Given the description of an element on the screen output the (x, y) to click on. 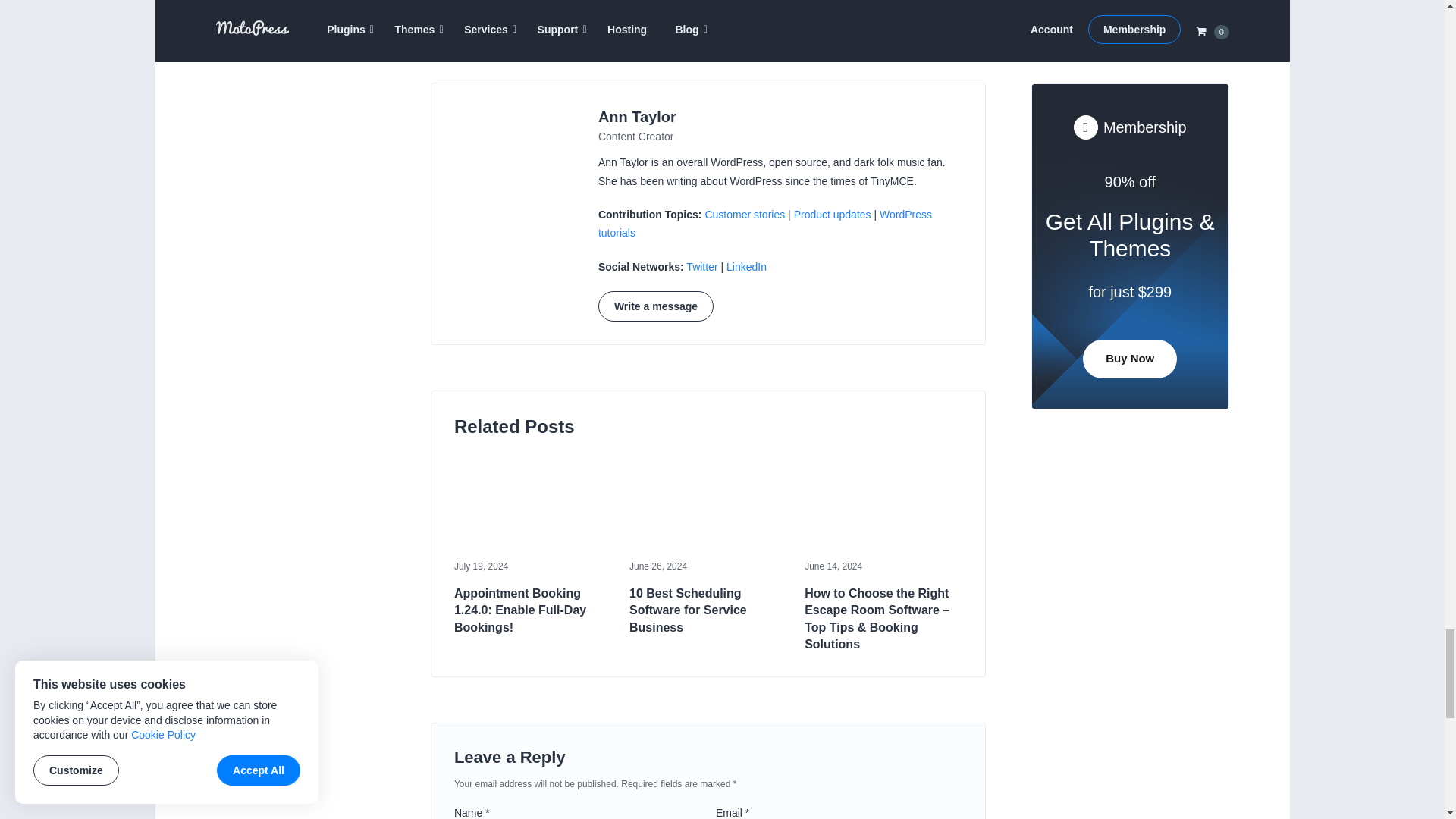
Appointment Booking 1.24.0: Enable Full-Day Bookings! (532, 610)
10 Best Scheduling Software for Service Business (707, 503)
Appointment Booking 1.24.0: Enable Full-Day Bookings! (532, 503)
10 Best Scheduling Software for Service Business (707, 610)
